Given the description of an element on the screen output the (x, y) to click on. 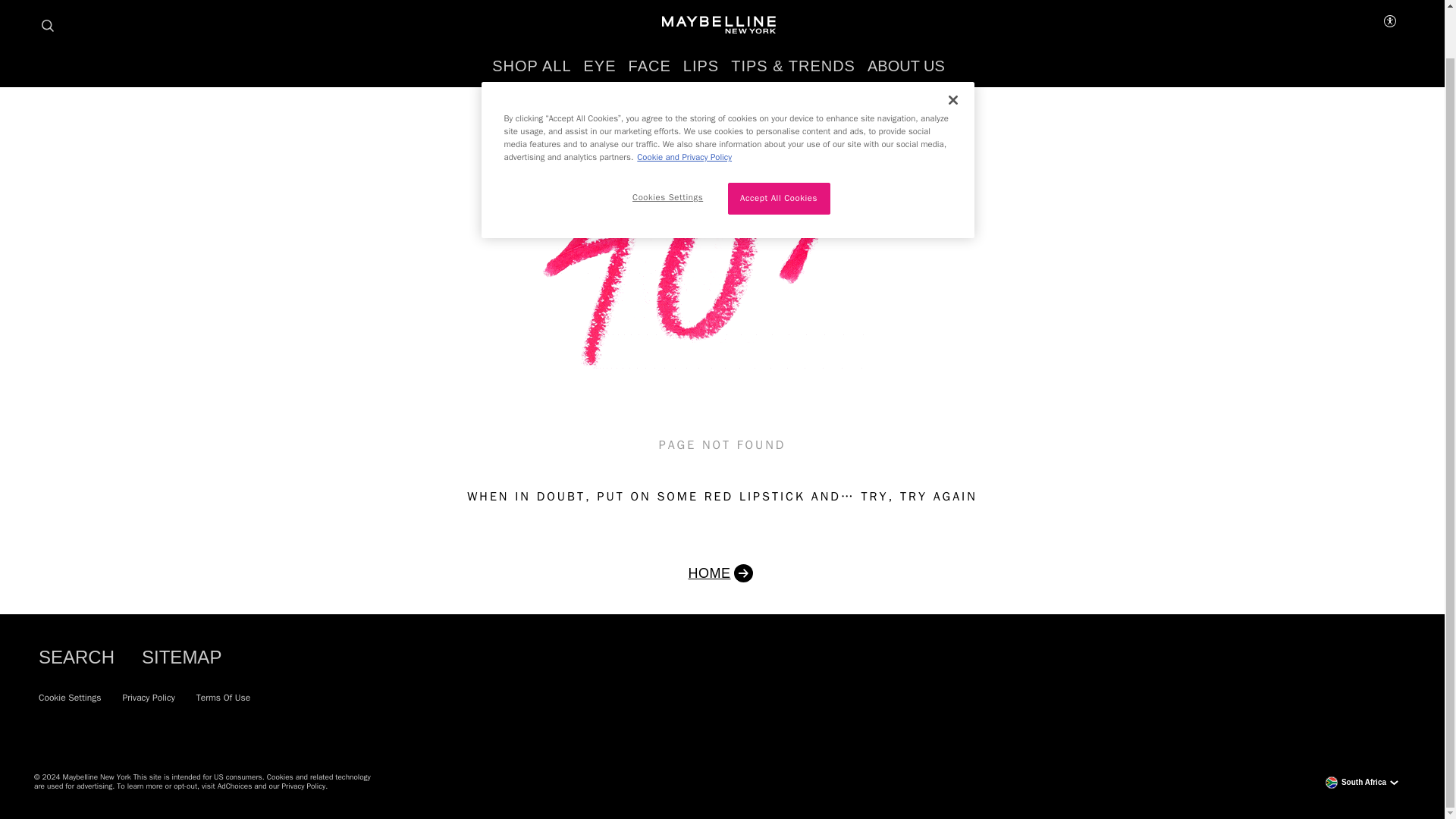
FACE (649, 14)
LIPS (700, 14)
EYE (599, 14)
SHOP ALL (531, 14)
